Given the description of an element on the screen output the (x, y) to click on. 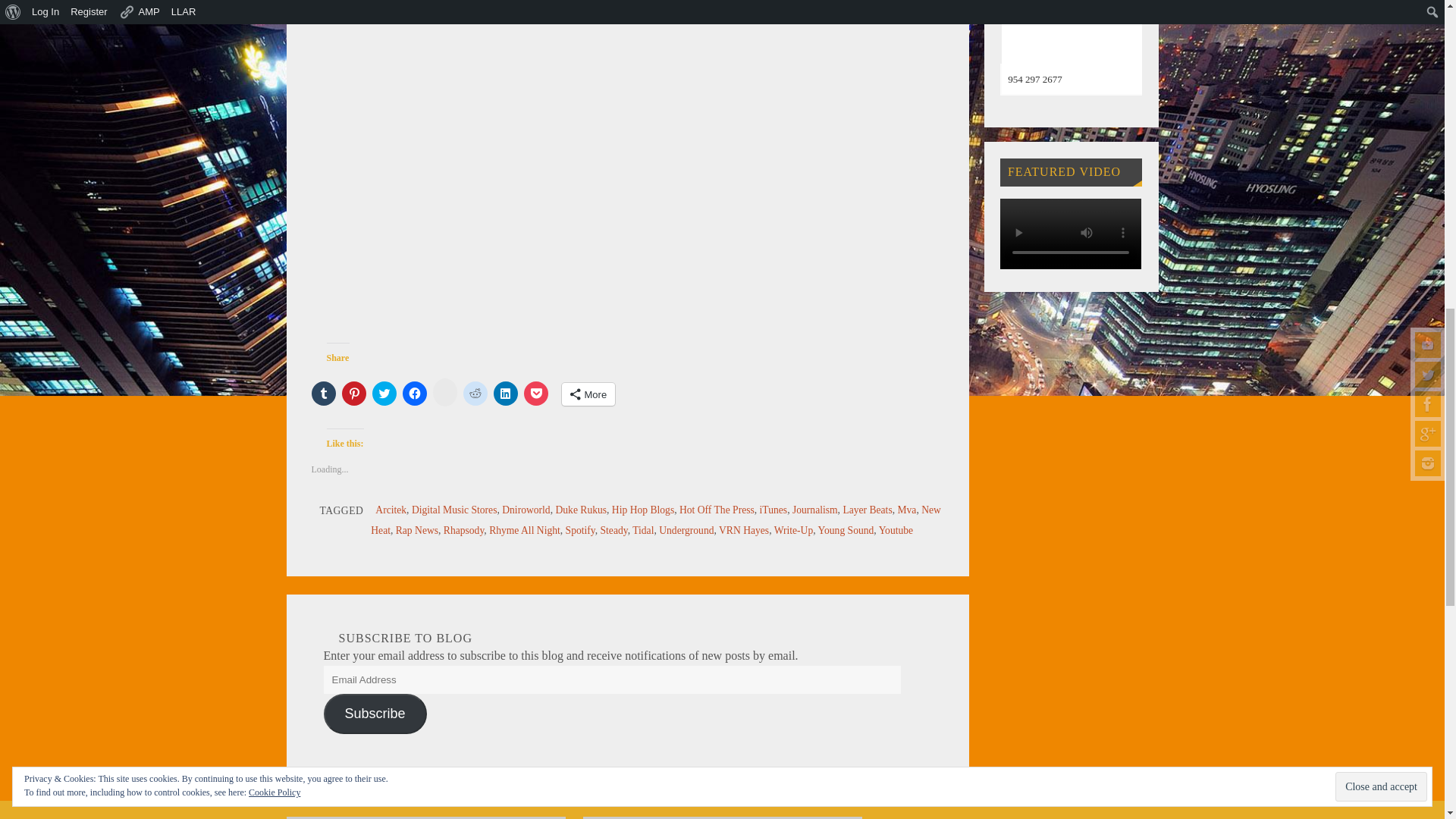
Click to share on Facebook (413, 393)
Click to share on Twitter (383, 393)
Click to share on Tumblr (322, 393)
Click to share on Pinterest (352, 393)
